Given the description of an element on the screen output the (x, y) to click on. 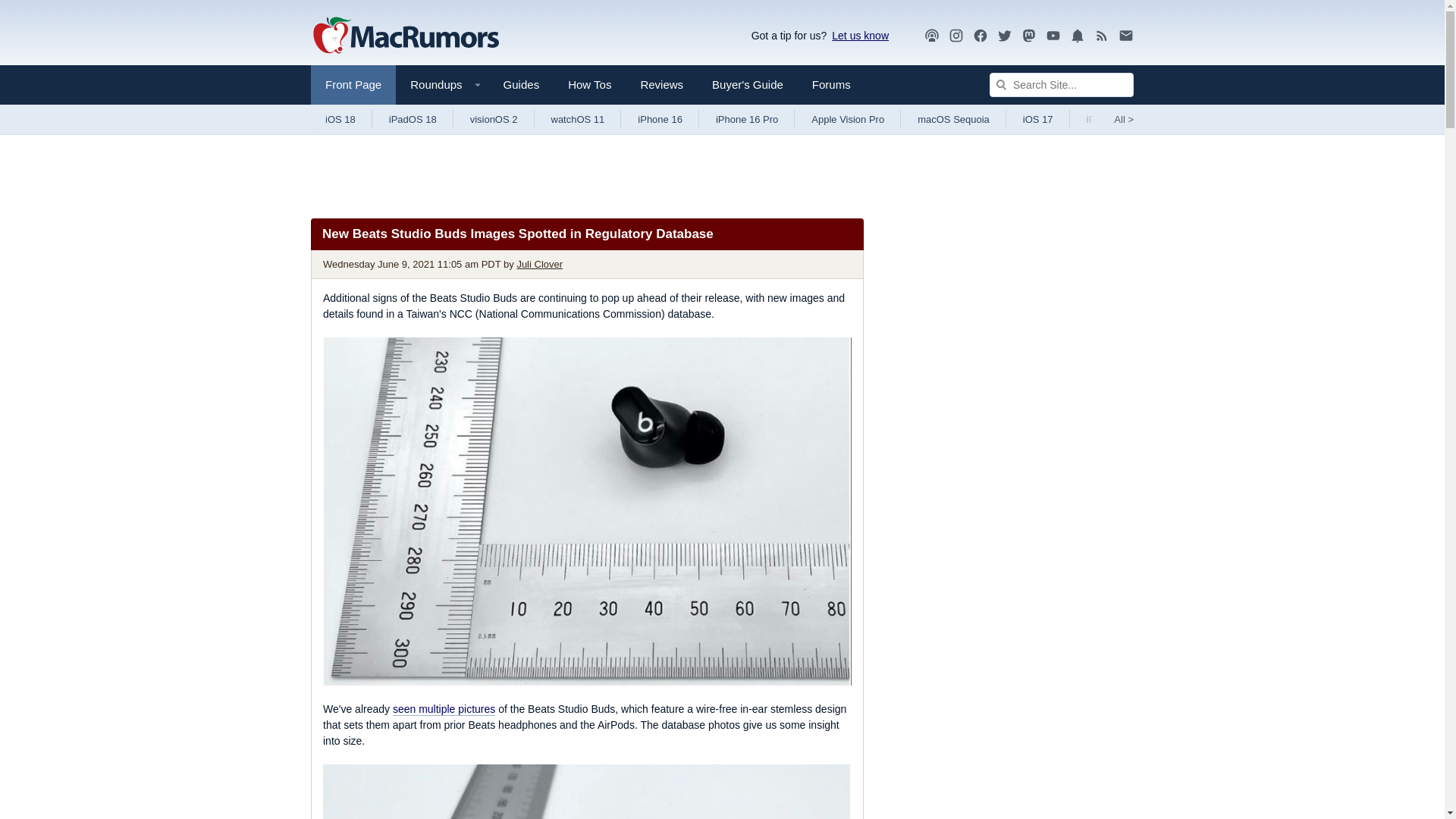
MacRumors FaceBook Page (980, 35)
Twitter (1004, 35)
Mastodon (1029, 35)
Facebook (980, 35)
YouTube (1053, 35)
How Tos (589, 84)
MacRumors on Twitter (1004, 35)
MacRumors Show (931, 35)
Newsletter (1126, 35)
RSS (1101, 35)
MacRumors Newsletter Signup (1126, 35)
Forums (830, 84)
MacRumors RSS Feed (1101, 35)
Apple, Mac, iPhone, iPad News and Rumors (405, 36)
Podcast (931, 35)
